Given the description of an element on the screen output the (x, y) to click on. 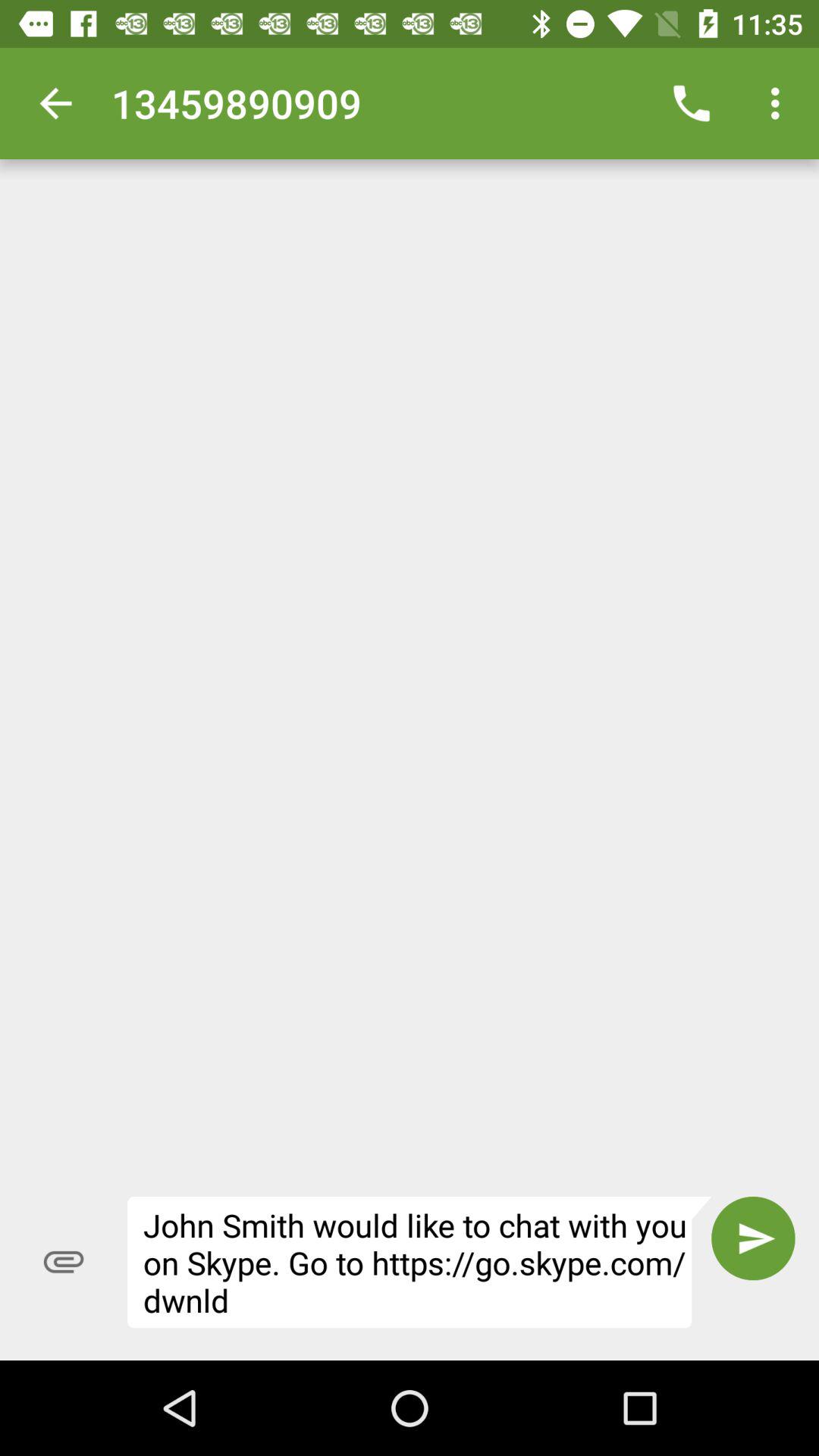
launch icon at the bottom left corner (63, 1261)
